Given the description of an element on the screen output the (x, y) to click on. 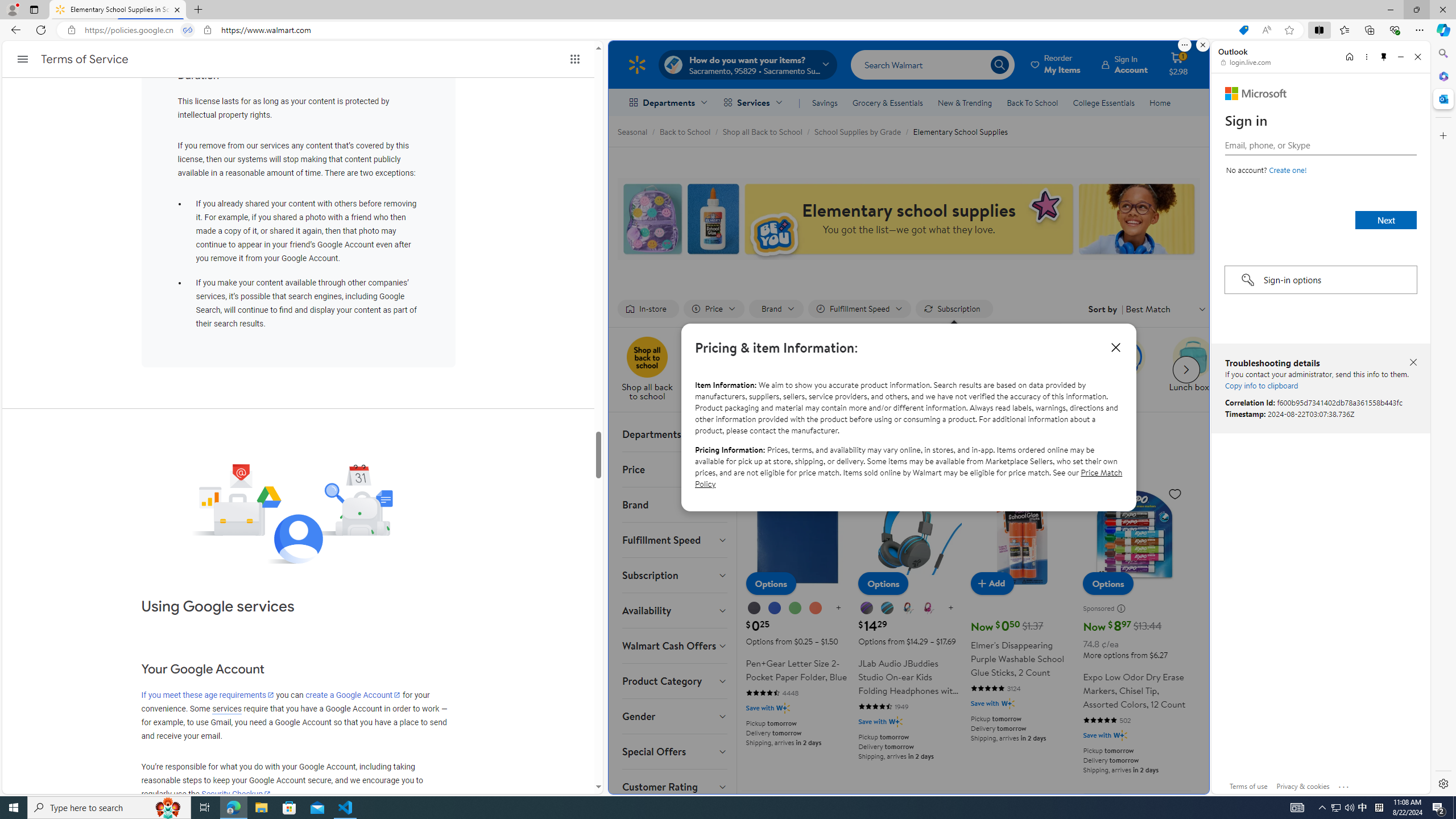
This site has coupons! Shopping in Microsoft Edge, 7 (1243, 29)
Privacy & cookies (1302, 785)
Close troubleshooting details (1412, 362)
Close dialog (1115, 346)
Enter your email, phone, or Skype. (1320, 145)
